Given the description of an element on the screen output the (x, y) to click on. 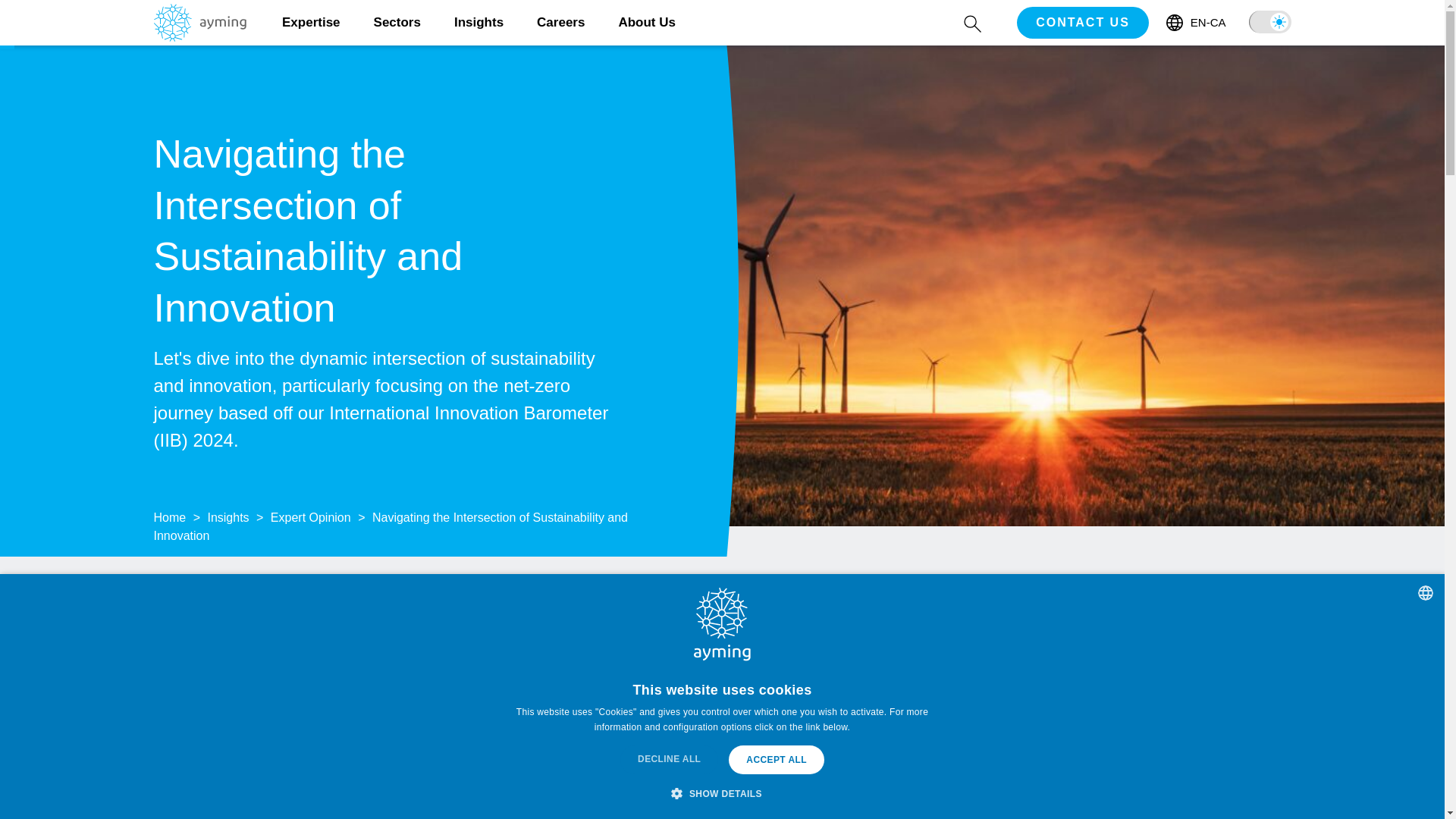
Insights (478, 22)
Go to the Expert Opinion category archives. (310, 517)
Go to Insights. (227, 517)
Go to Home. (169, 517)
Expertise (311, 22)
Ayming Canada (199, 36)
Sectors (397, 22)
